Given the description of an element on the screen output the (x, y) to click on. 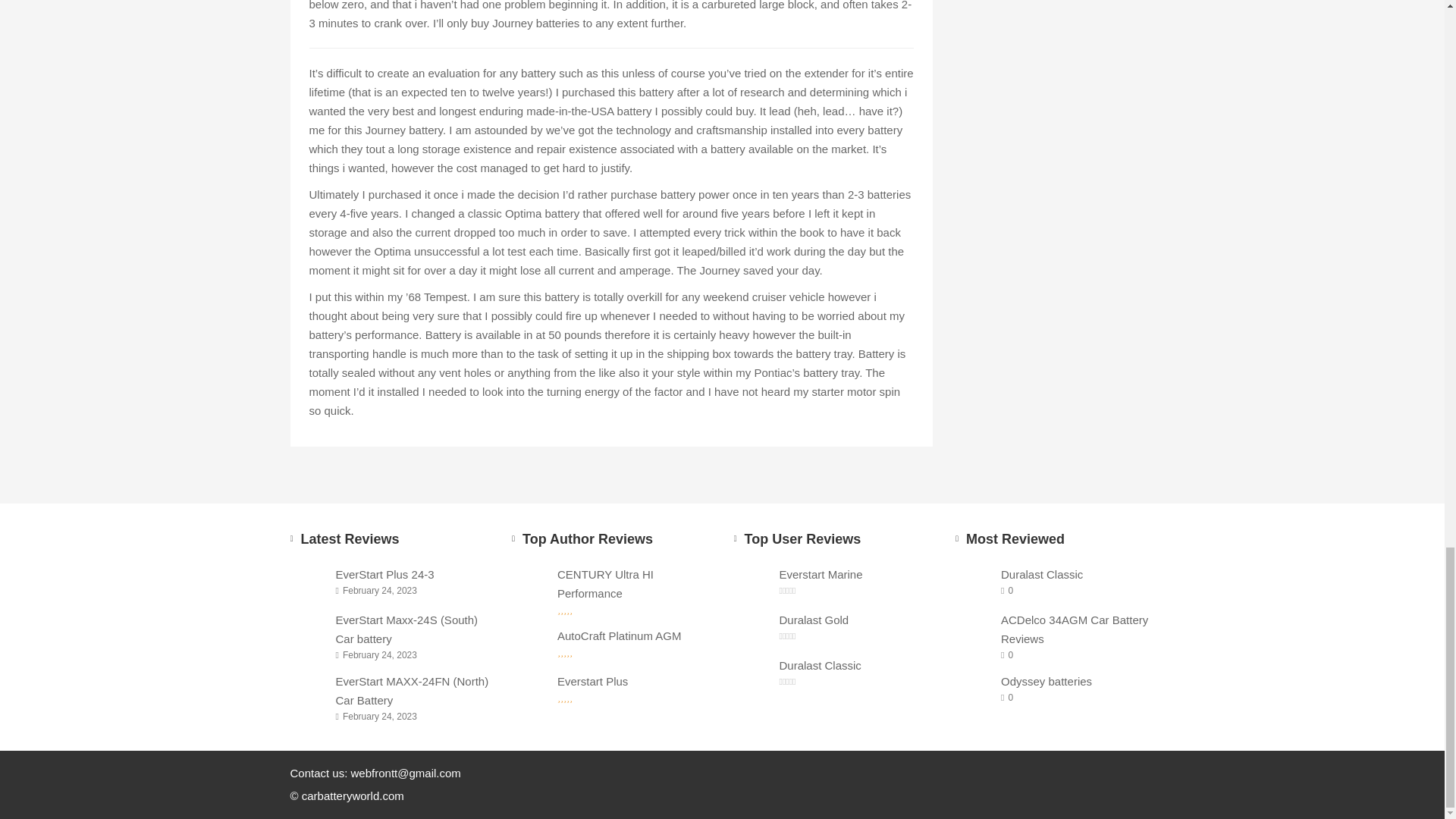
EverStart Plus 24-3 (411, 573)
CENTURY Ultra HI Performance (634, 582)
AutoCraft Platinum AGM (634, 635)
EverStart Plus 24-3 (308, 581)
Everstart Plus (634, 681)
CENTURY Ultra HI Performance (531, 581)
